Given the description of an element on the screen output the (x, y) to click on. 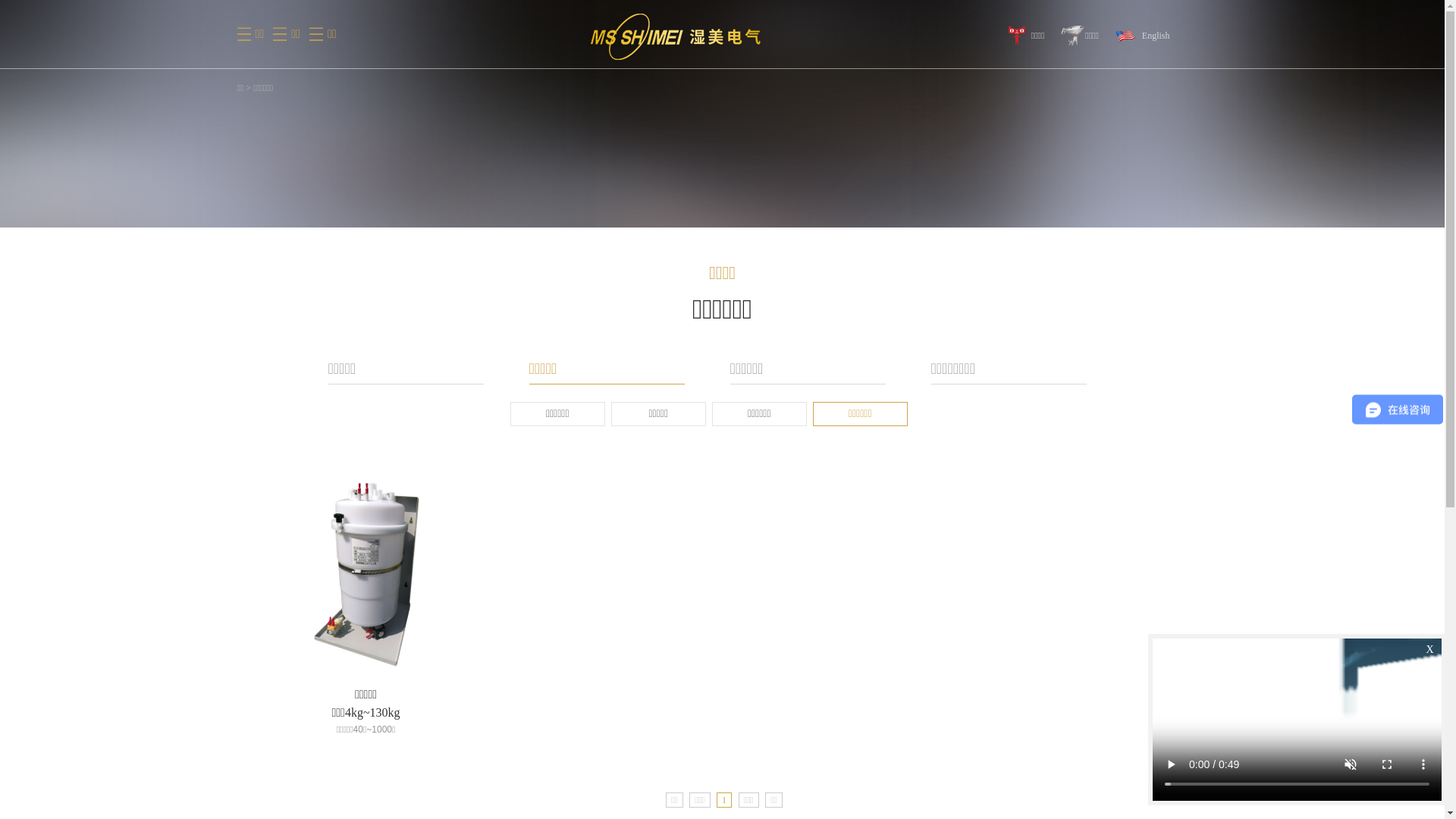
  Element type: text (657, 36)
X Element type: text (1429, 649)
English Element type: text (1142, 35)
